Given the description of an element on the screen output the (x, y) to click on. 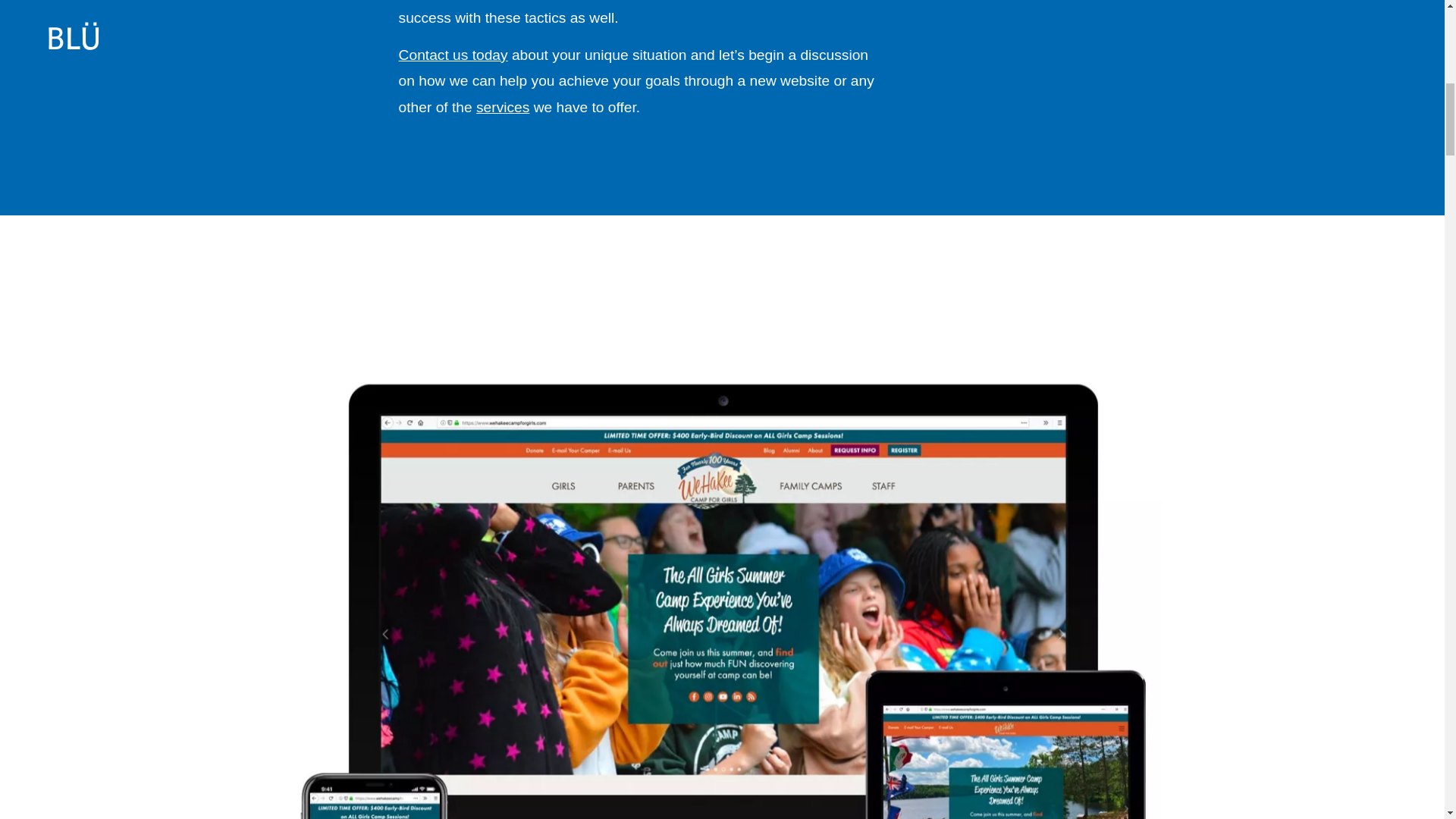
Contact us today (453, 54)
services (502, 107)
